Given the description of an element on the screen output the (x, y) to click on. 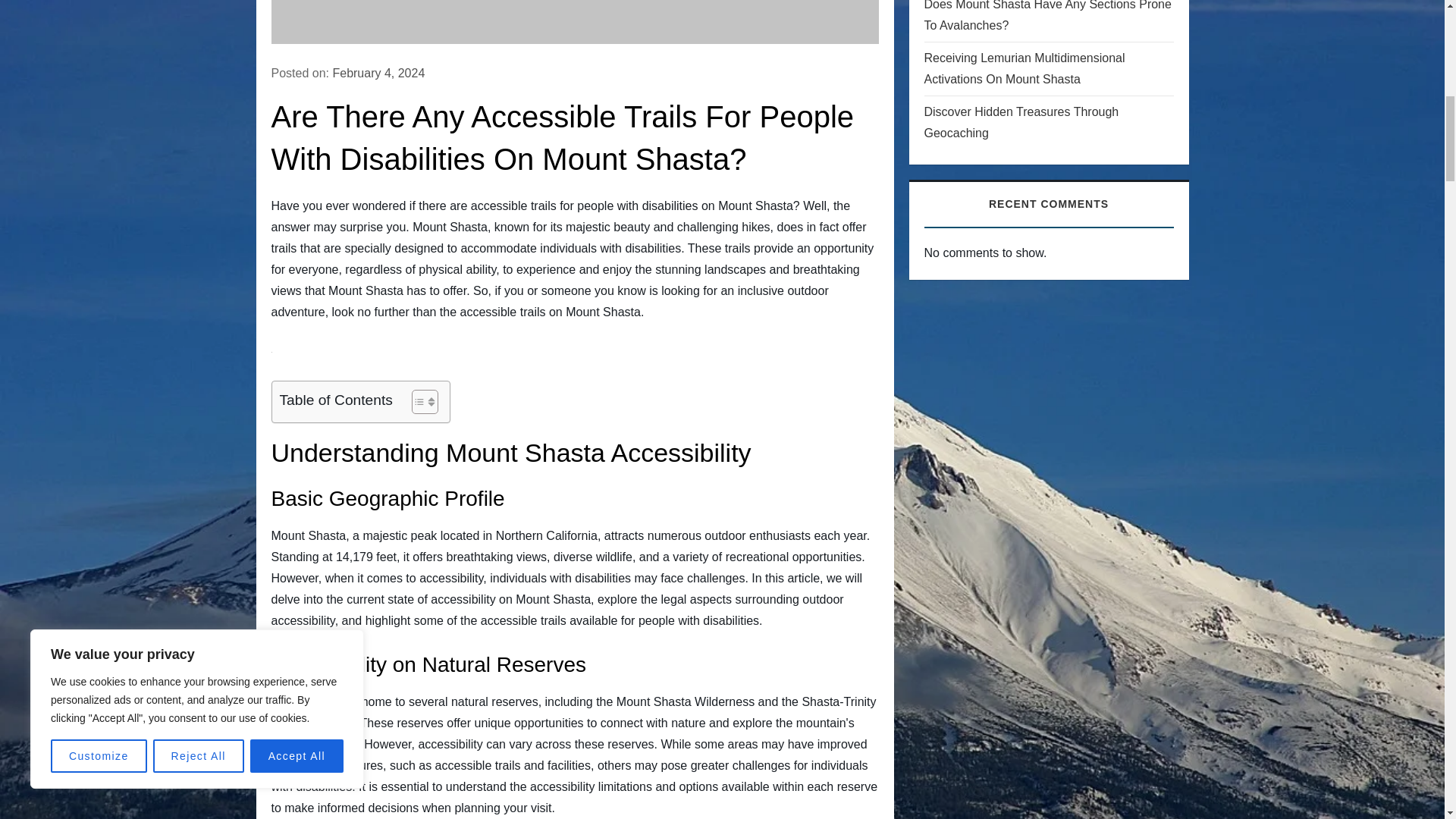
February 4, 2024 (378, 72)
